Given the description of an element on the screen output the (x, y) to click on. 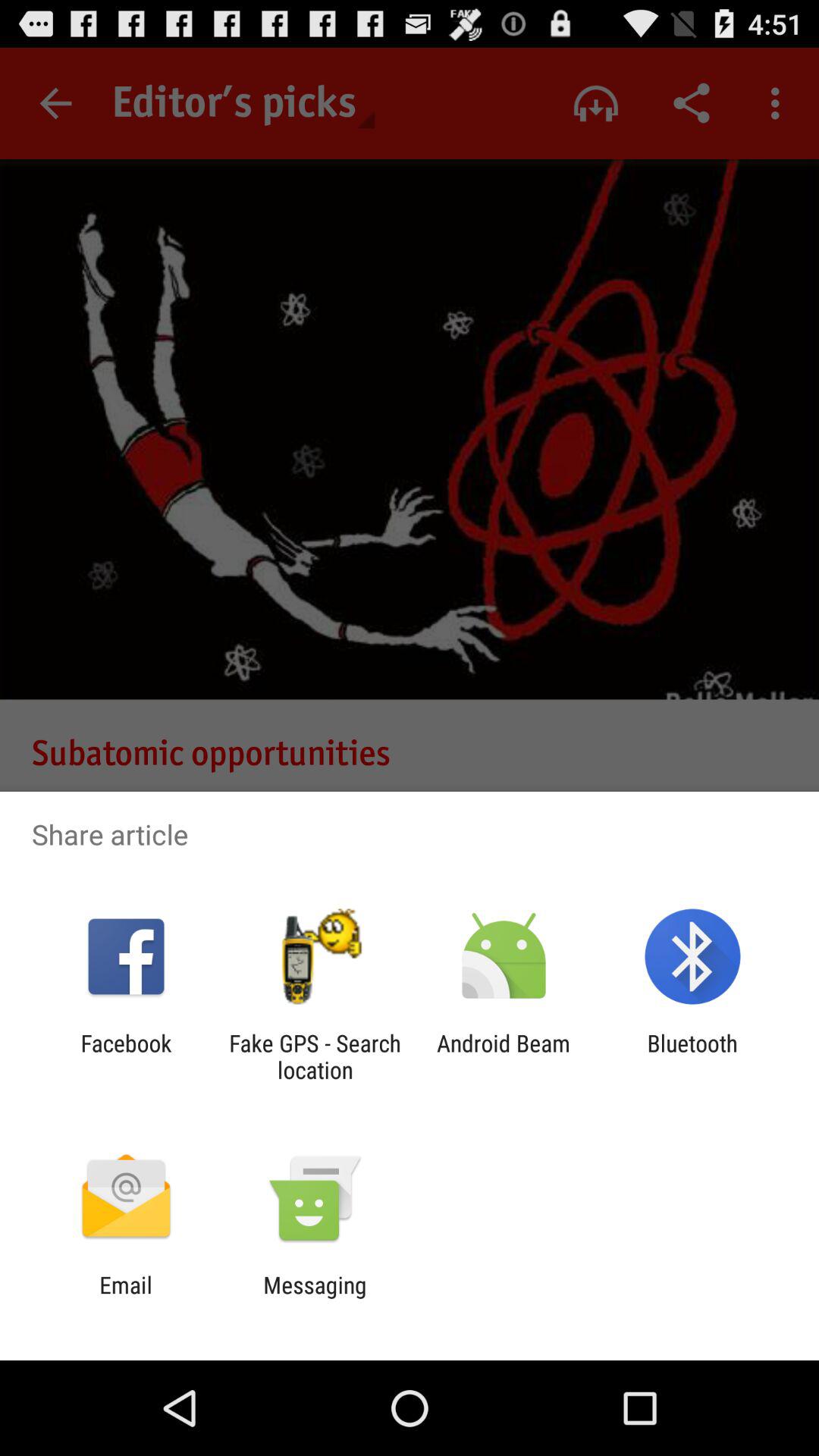
open the app next to facebook icon (314, 1056)
